Given the description of an element on the screen output the (x, y) to click on. 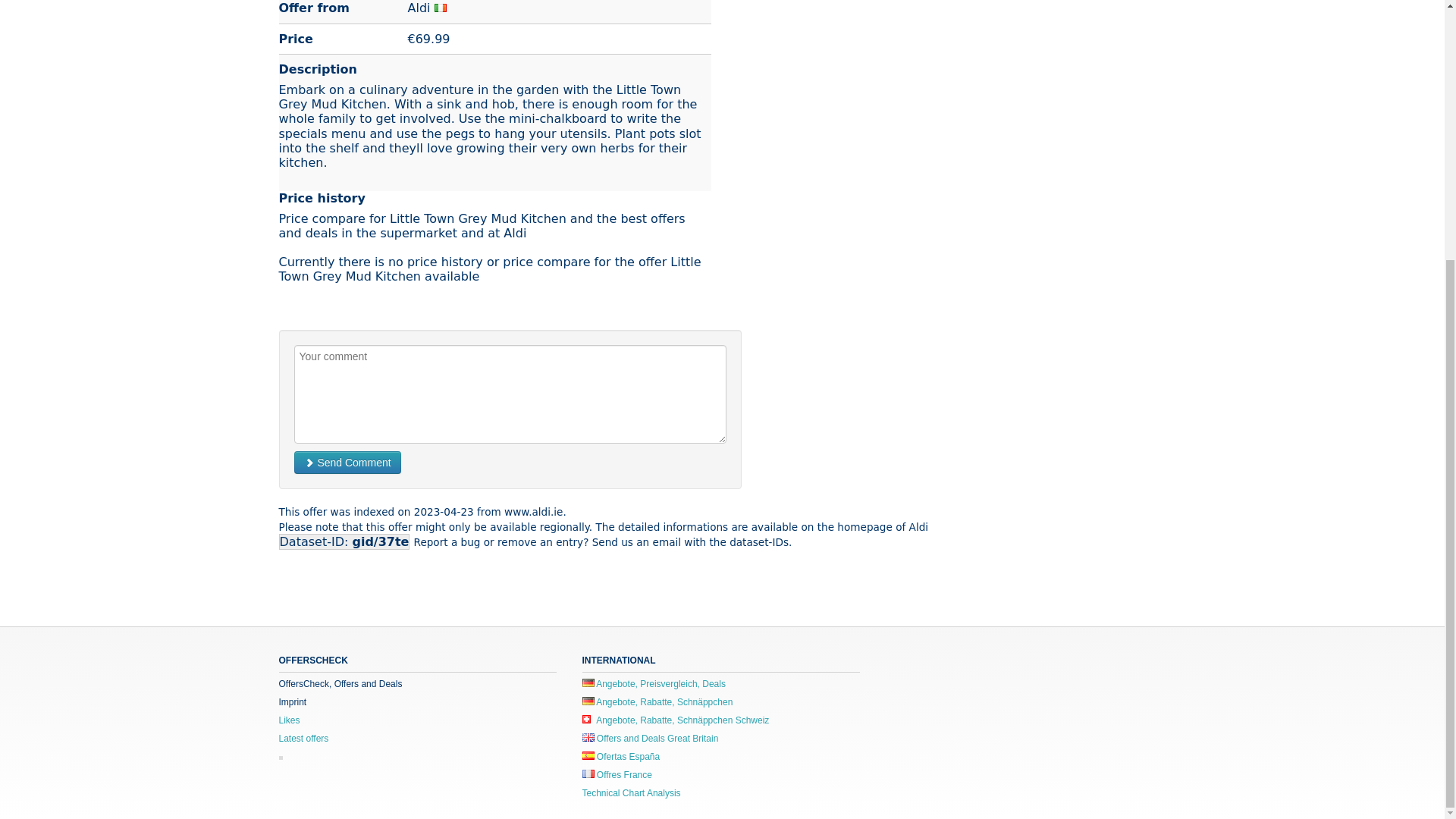
Offres France (617, 774)
Angebote, Preisvergleich, Deals (653, 683)
Angebote Deutschland (657, 701)
Latest offers (304, 738)
Aldi Ireland (418, 7)
Angebote (588, 700)
Offers and Deals Great Britain (650, 738)
Likes (289, 719)
Angebote Schweiz (676, 719)
Angebote (588, 682)
Send Comment (347, 462)
Ireland (439, 8)
Technical Chart Analysis (631, 792)
Angebote Deutschland (653, 683)
